Given the description of an element on the screen output the (x, y) to click on. 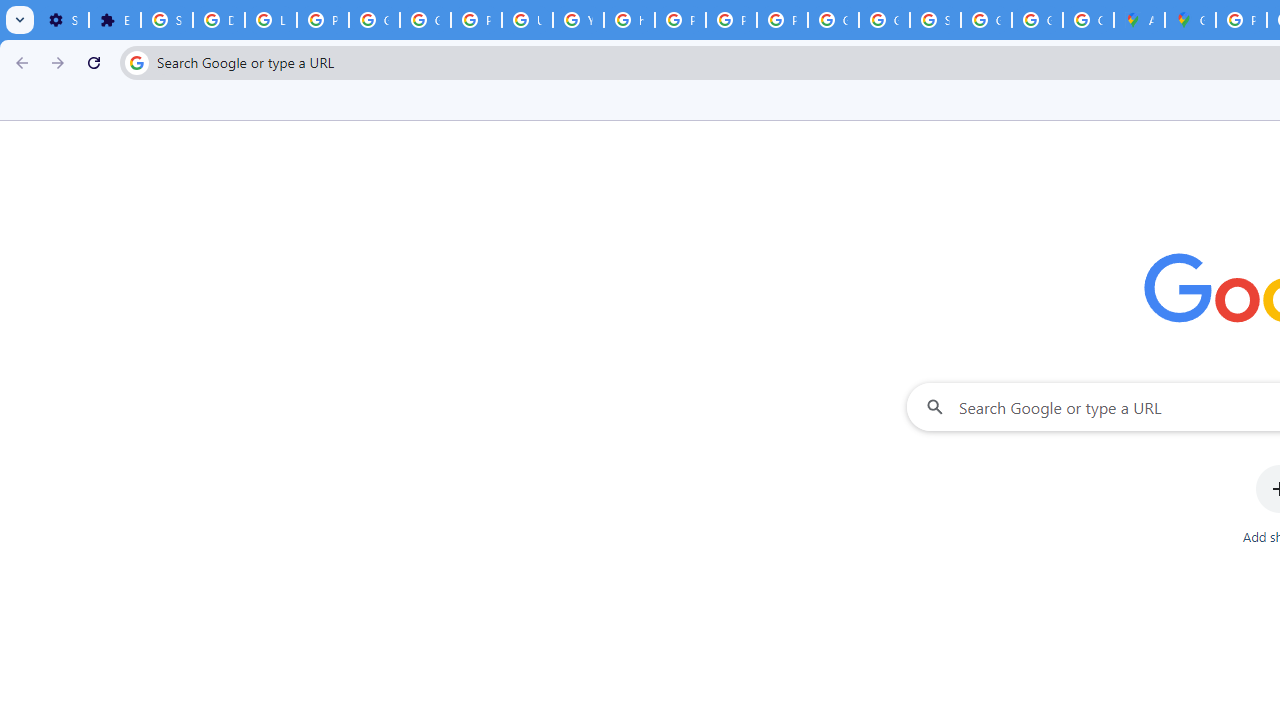
Google Account Help (374, 20)
Create your Google Account (1087, 20)
Privacy Help Center - Policies Help (680, 20)
YouTube (578, 20)
